Given the description of an element on the screen output the (x, y) to click on. 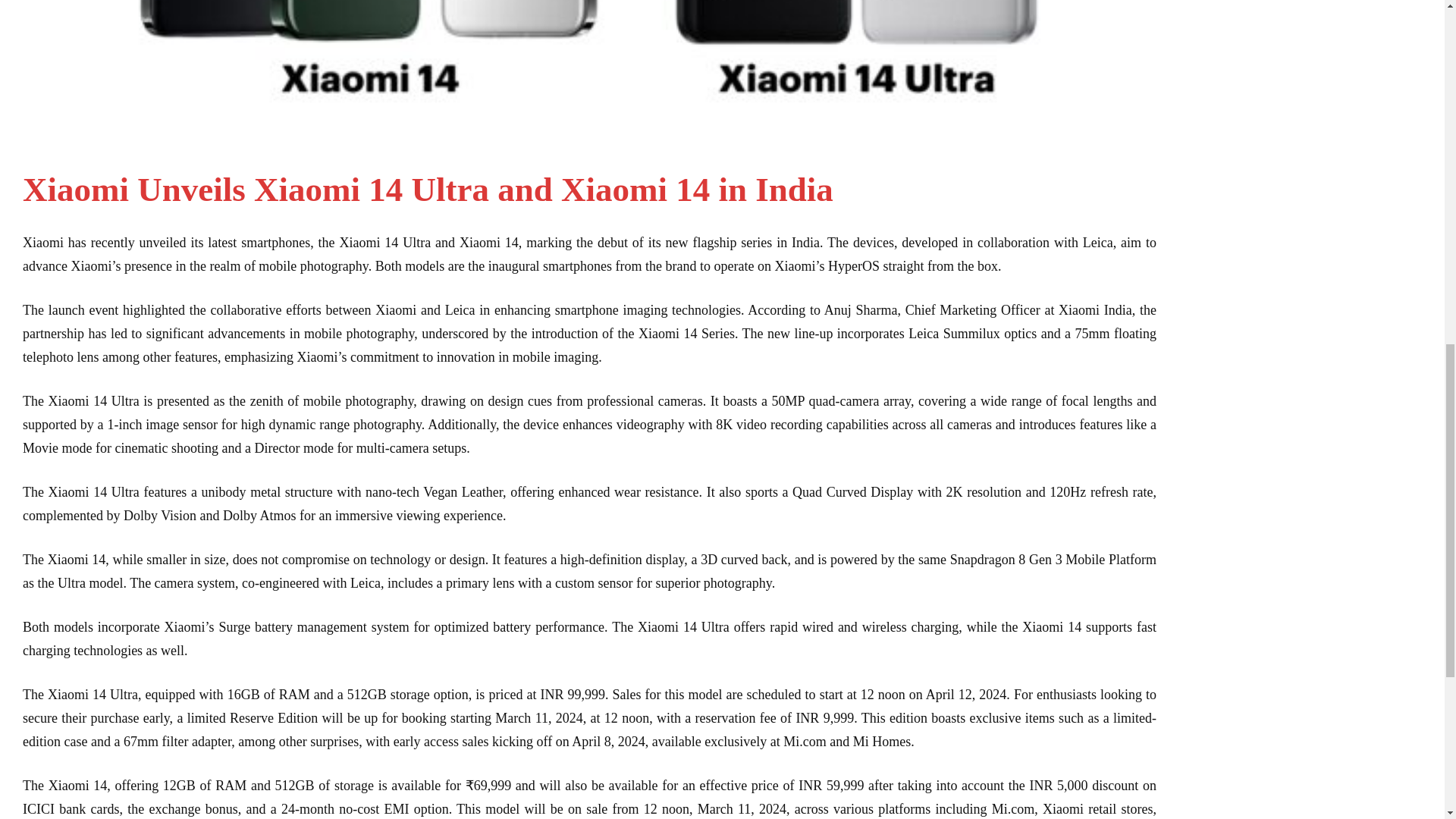
Xiaomi Unveils Xiaomi 14 Ultra and Xiaomi 14 in India (427, 189)
